Given the description of an element on the screen output the (x, y) to click on. 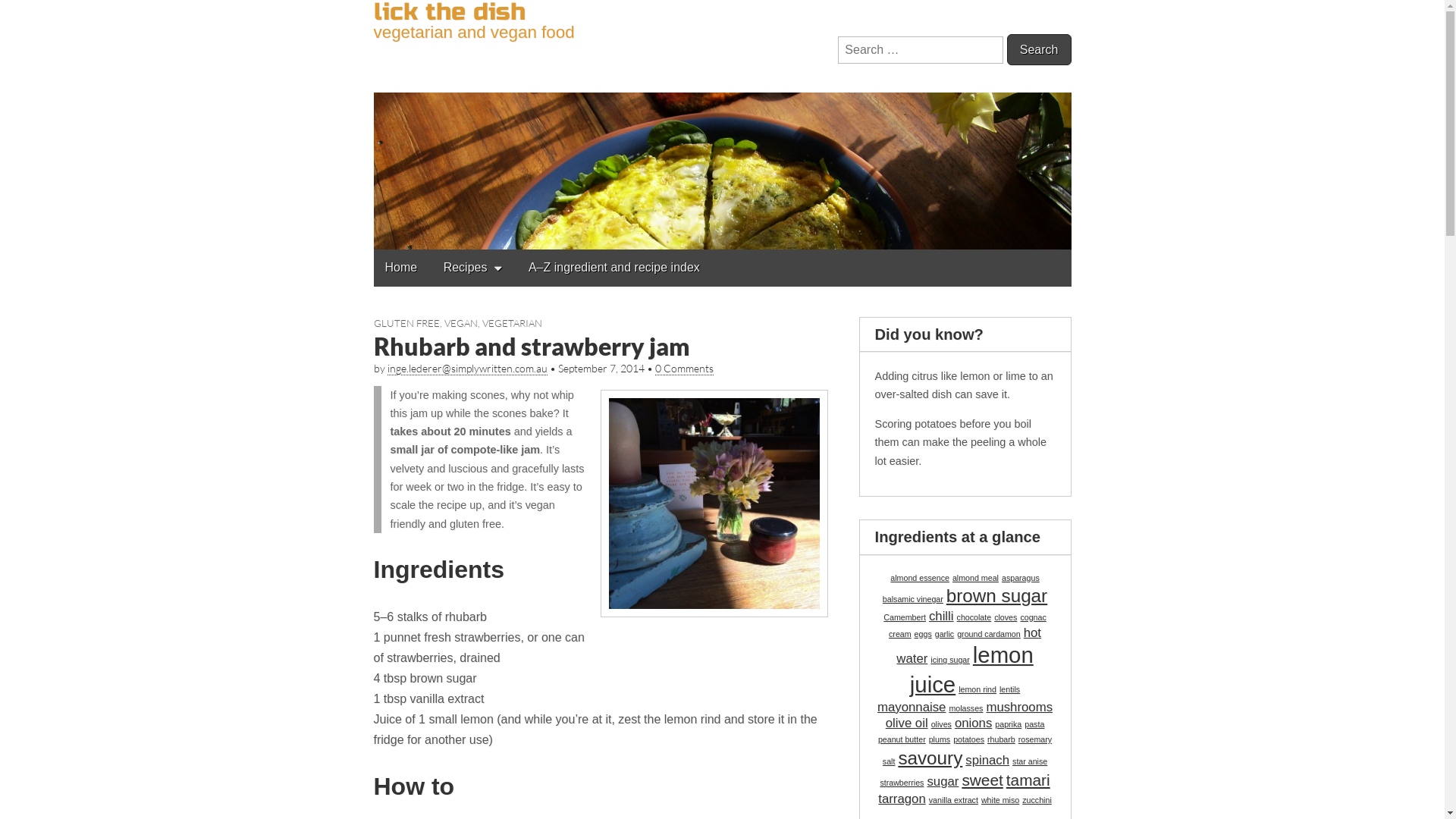
strawberries Element type: text (901, 782)
paprika Element type: text (1007, 723)
star anise Element type: text (1029, 760)
cognac Element type: text (1032, 616)
sugar Element type: text (942, 781)
almond essence Element type: text (919, 577)
salt Element type: text (888, 760)
molasses Element type: text (965, 707)
rhubarb Element type: text (1001, 738)
peanut butter Element type: text (901, 738)
eggs Element type: text (922, 633)
white miso Element type: text (1000, 799)
cloves Element type: text (1005, 616)
mayonnaise Element type: text (911, 706)
hot water Element type: text (968, 645)
rosemary Element type: text (1034, 738)
olives Element type: text (941, 723)
olive oil Element type: text (906, 722)
garlic Element type: text (944, 633)
inge.lederer@simplywritten.com.au Element type: text (466, 368)
pasta Element type: text (1034, 723)
Camembert Element type: text (904, 616)
Recipes Element type: text (473, 267)
plums Element type: text (939, 738)
almond meal Element type: text (975, 577)
savoury Element type: text (929, 757)
lemon juice Element type: text (971, 669)
icing sugar Element type: text (949, 659)
GLUTEN FREE Element type: text (406, 322)
Skip to content Element type: text (373, 248)
potatoes Element type: text (968, 738)
mushrooms Element type: text (1018, 706)
ground cardamon Element type: text (988, 633)
Home Element type: text (400, 267)
0 Comments Element type: text (684, 368)
onions Element type: text (972, 722)
chocolate Element type: text (974, 616)
lick the dish Element type: hover (721, 124)
Search Element type: text (1039, 49)
VEGAN Element type: text (460, 322)
spinach Element type: text (987, 760)
September 7, 2014 Element type: text (601, 367)
tamari Element type: text (1028, 779)
zucchini Element type: text (1036, 799)
tarragon Element type: text (901, 798)
cream Element type: text (899, 633)
sweet Element type: text (981, 779)
brown sugar Element type: text (996, 595)
vanilla extract Element type: text (953, 799)
asparagus Element type: text (1020, 577)
lentils Element type: text (1009, 688)
balsamic vinegar Element type: text (912, 598)
chilli Element type: text (940, 615)
VEGETARIAN Element type: text (512, 322)
lemon rind Element type: text (977, 688)
